Given the description of an element on the screen output the (x, y) to click on. 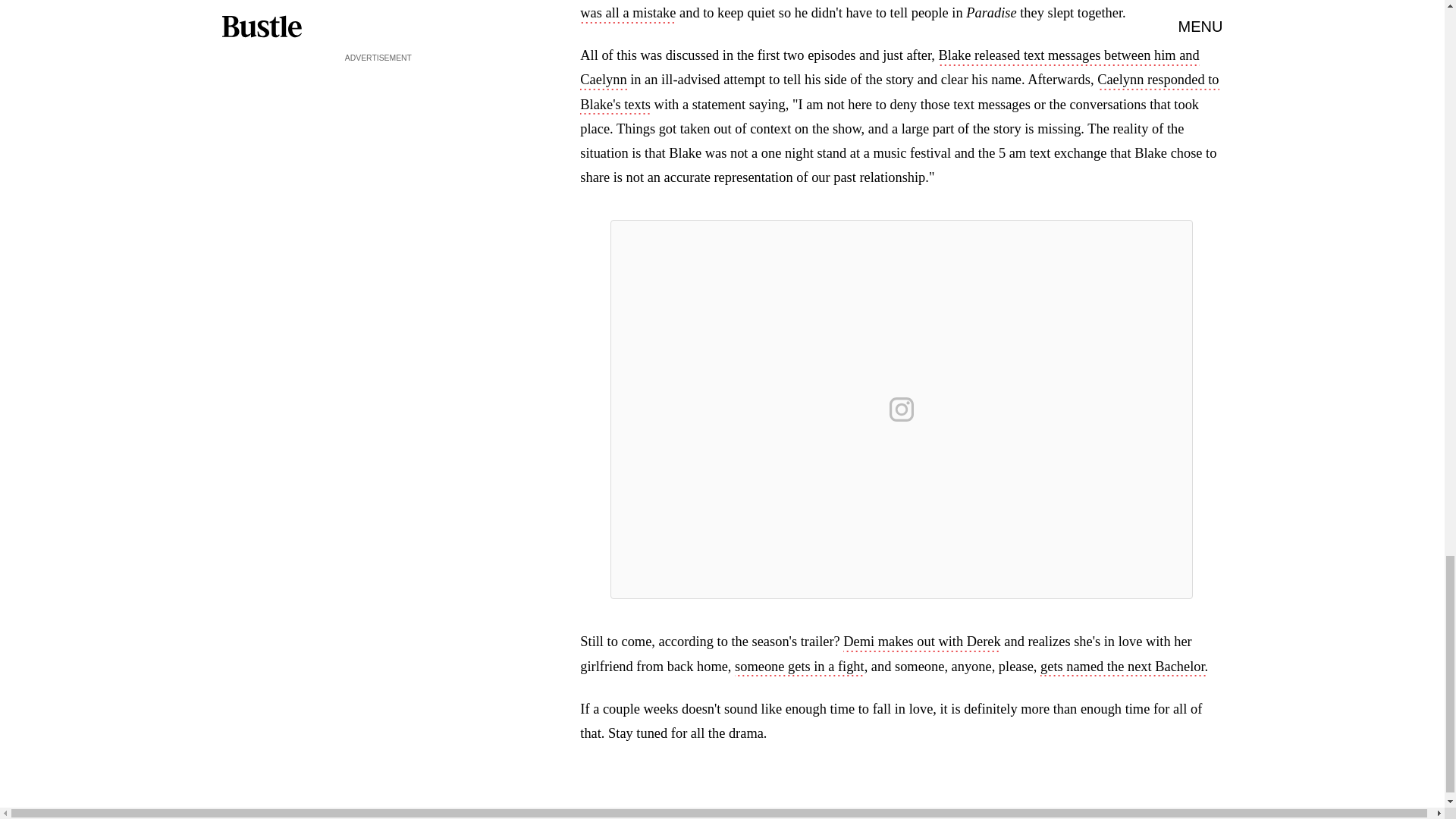
Blake released text messages between him and Caelynn (888, 68)
gets named the next Bachelor. (1124, 668)
someone gets in a fight (799, 668)
he told her it was all a mistake (890, 11)
View on Instagram (901, 409)
Caelynn responded to Blake's texts (898, 93)
Demi makes out with Derek (921, 642)
